Given the description of an element on the screen output the (x, y) to click on. 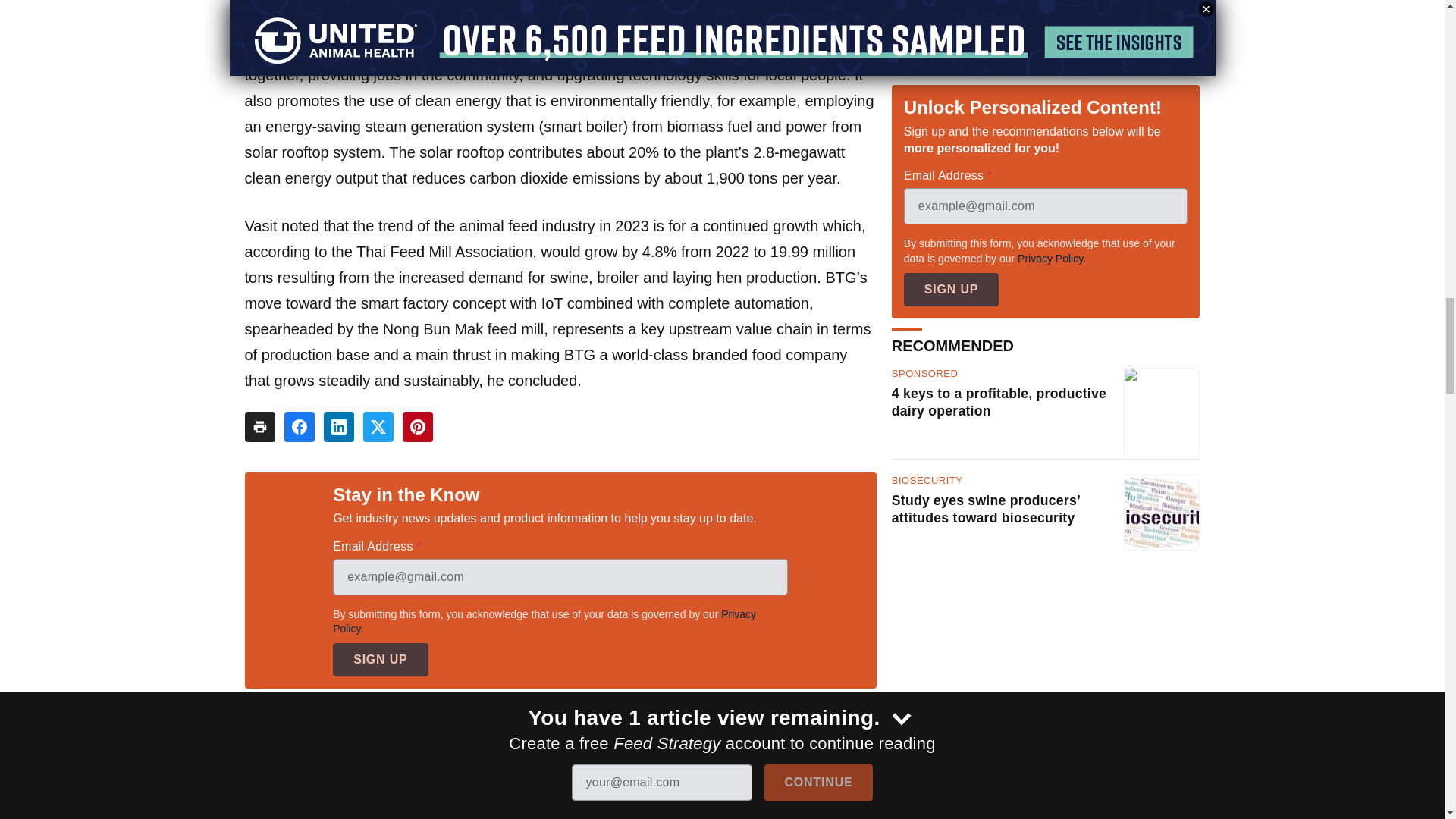
Share To facebook (298, 426)
Share To twitter (377, 426)
Share To pinterest (416, 426)
Share To linkedin (338, 426)
Share To print (259, 426)
